Given the description of an element on the screen output the (x, y) to click on. 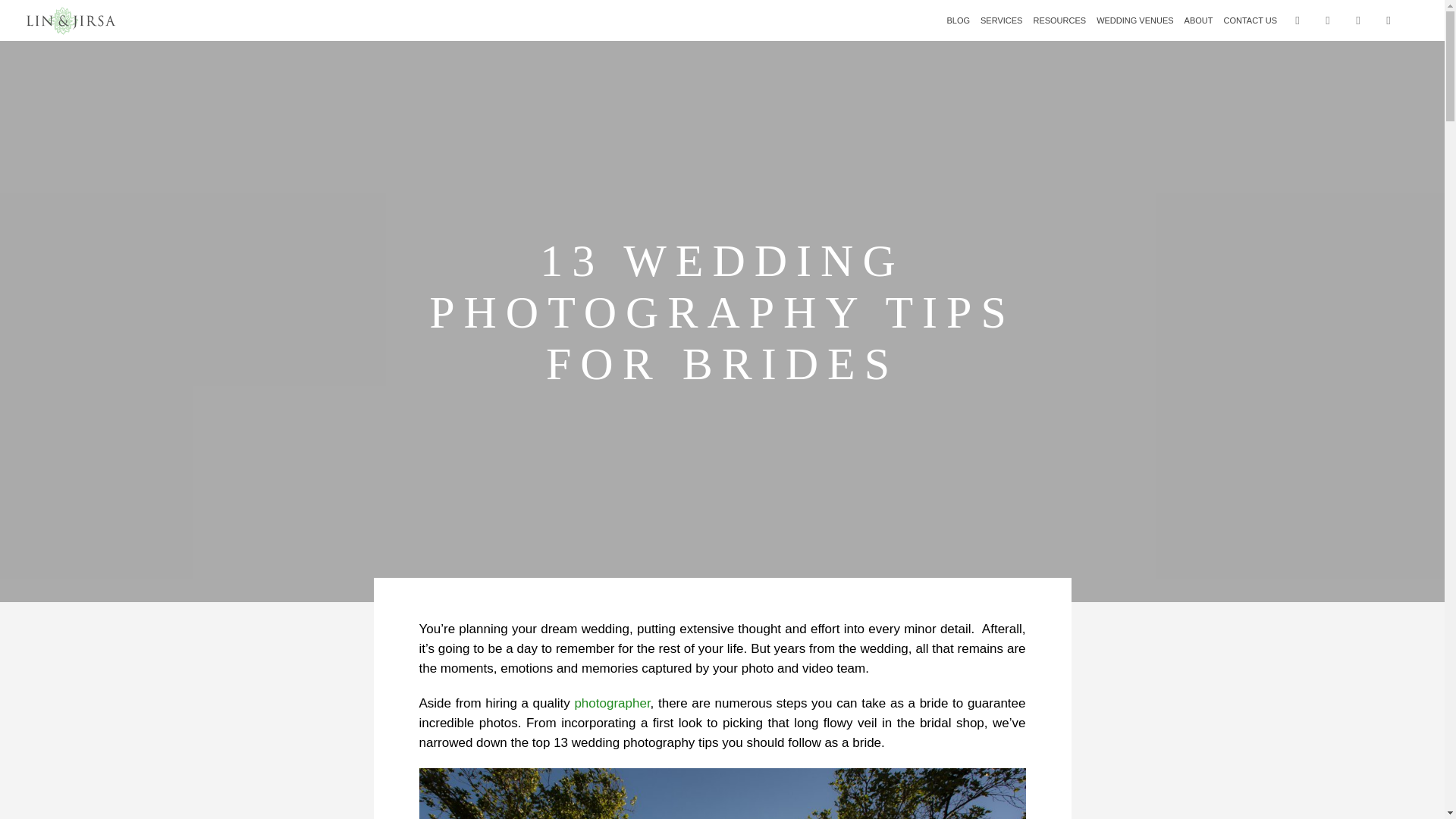
RESOURCES (1058, 20)
CONTACT US (1249, 20)
photographer (611, 703)
WEDDING VENUES (1133, 20)
SERVICES (1001, 20)
ABOUT (1198, 20)
